Given the description of an element on the screen output the (x, y) to click on. 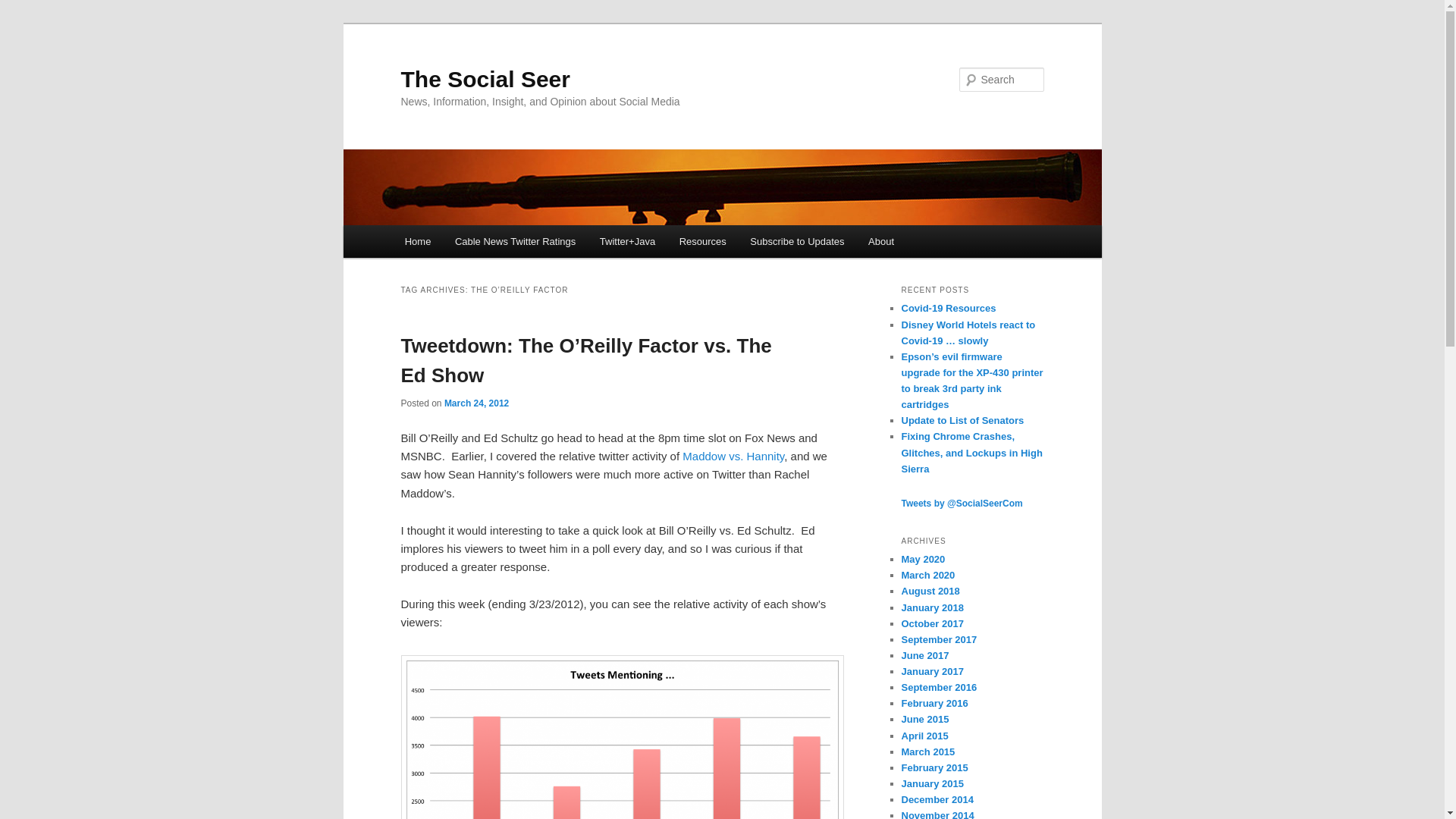
March 24, 2012 (476, 403)
Subscribe to Updates (797, 241)
Home (417, 241)
The Social Seer (484, 78)
Cable News Twitter Ratings (515, 241)
Bill-v-Ed (621, 737)
10:00 am (476, 403)
Maddow vs. Hannity (733, 455)
About (880, 241)
